Given the description of an element on the screen output the (x, y) to click on. 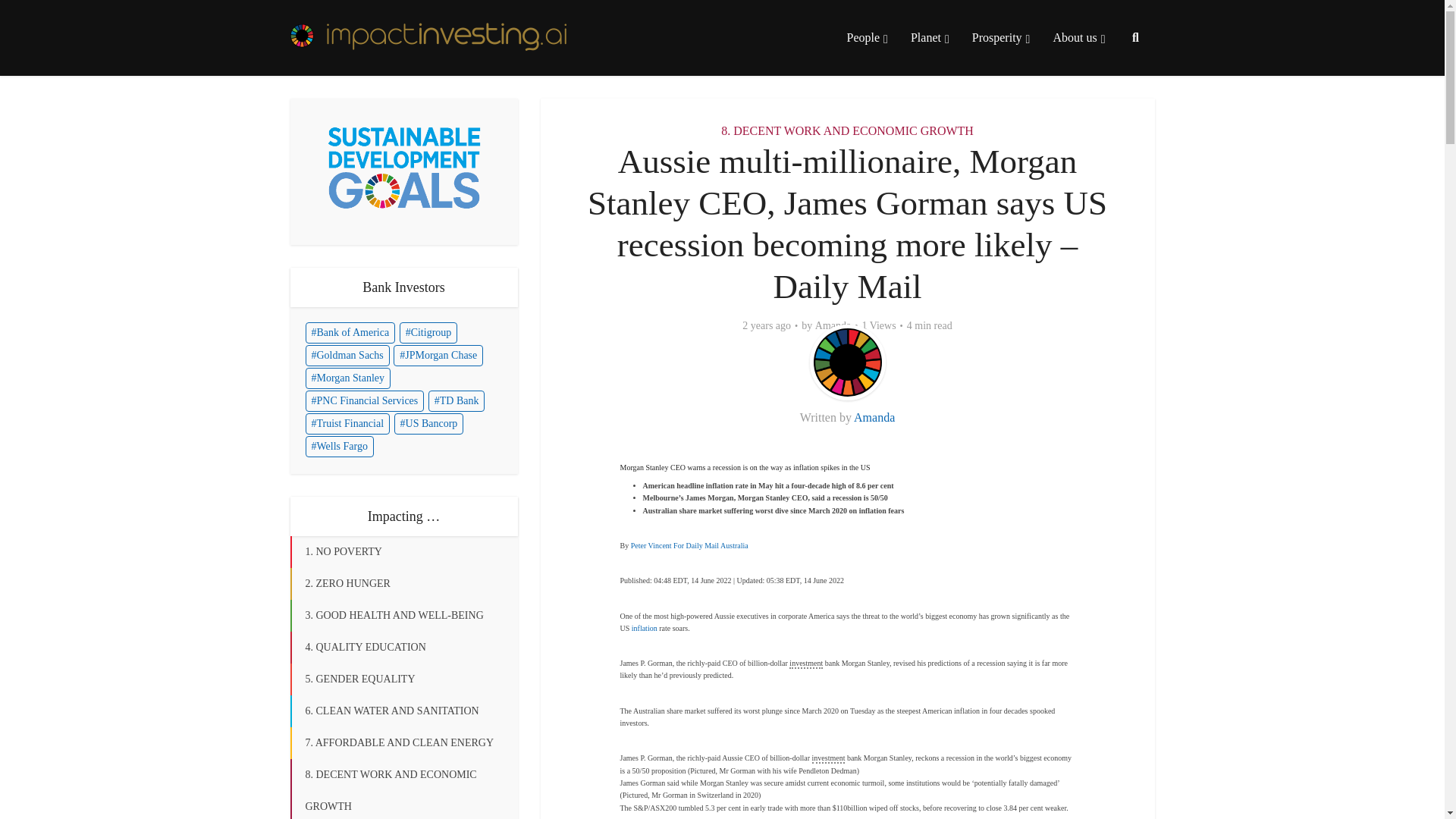
About us (1078, 38)
Prosperity (1001, 38)
